Given the description of an element on the screen output the (x, y) to click on. 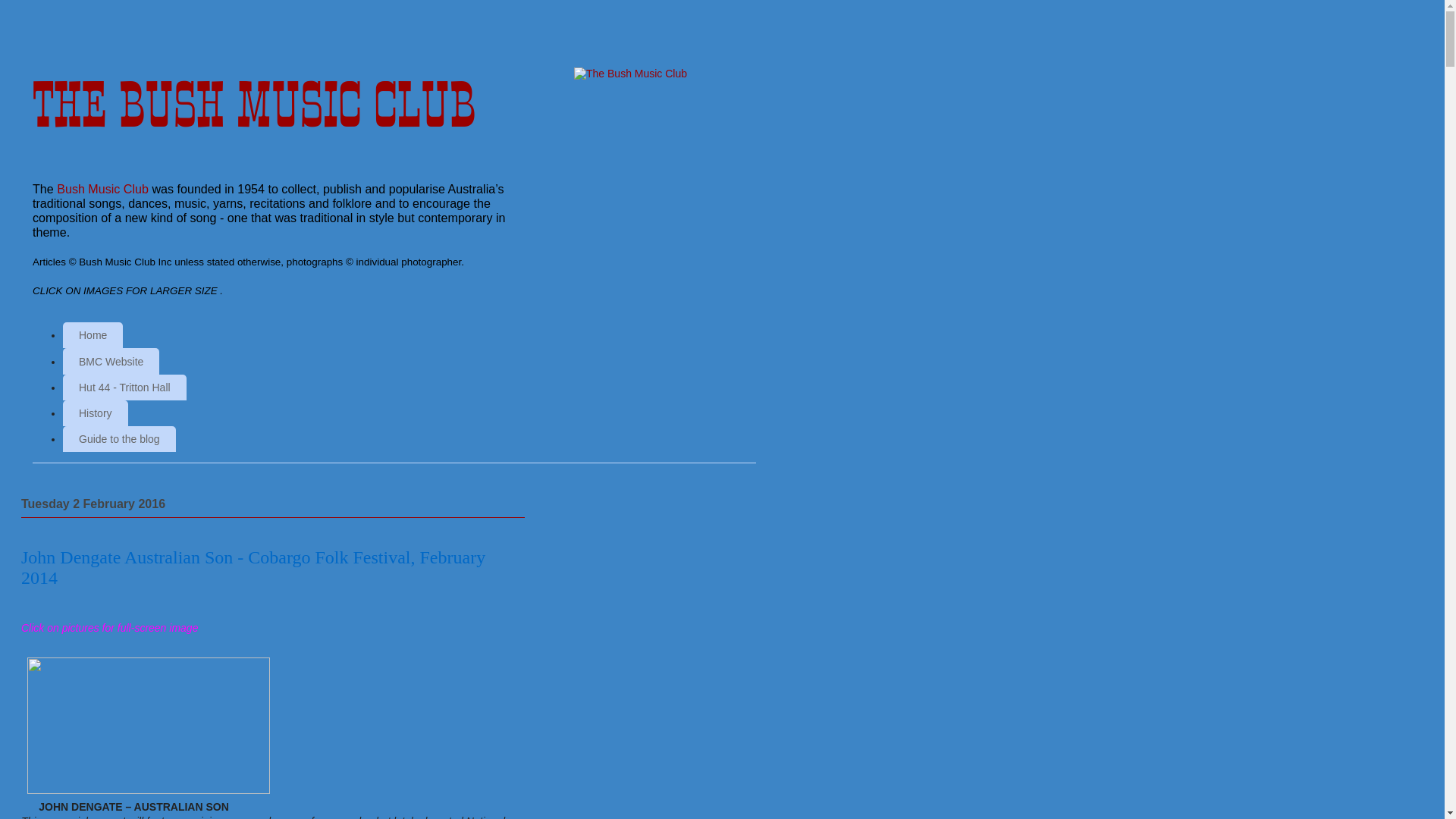
Guide to the blog Element type: text (118, 438)
THE BUSH MUSIC CLUB Element type: text (253, 104)
History Element type: text (95, 413)
Bush Music Club Element type: text (102, 188)
BMC Website Element type: text (110, 360)
Home Element type: text (92, 335)
Hut 44 - Tritton Hall Element type: text (124, 387)
